Given the description of an element on the screen output the (x, y) to click on. 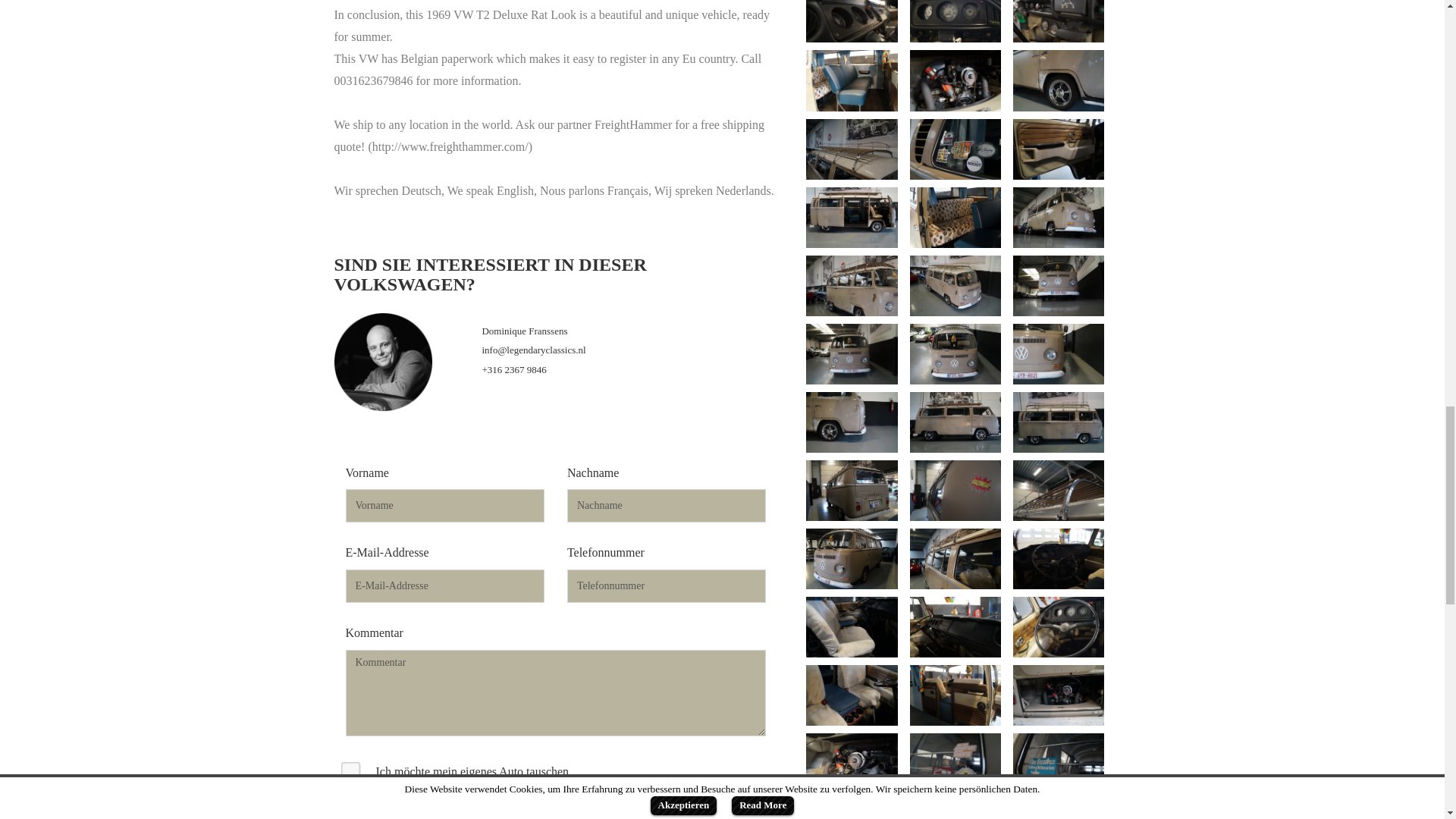
1 (345, 766)
